Given the description of an element on the screen output the (x, y) to click on. 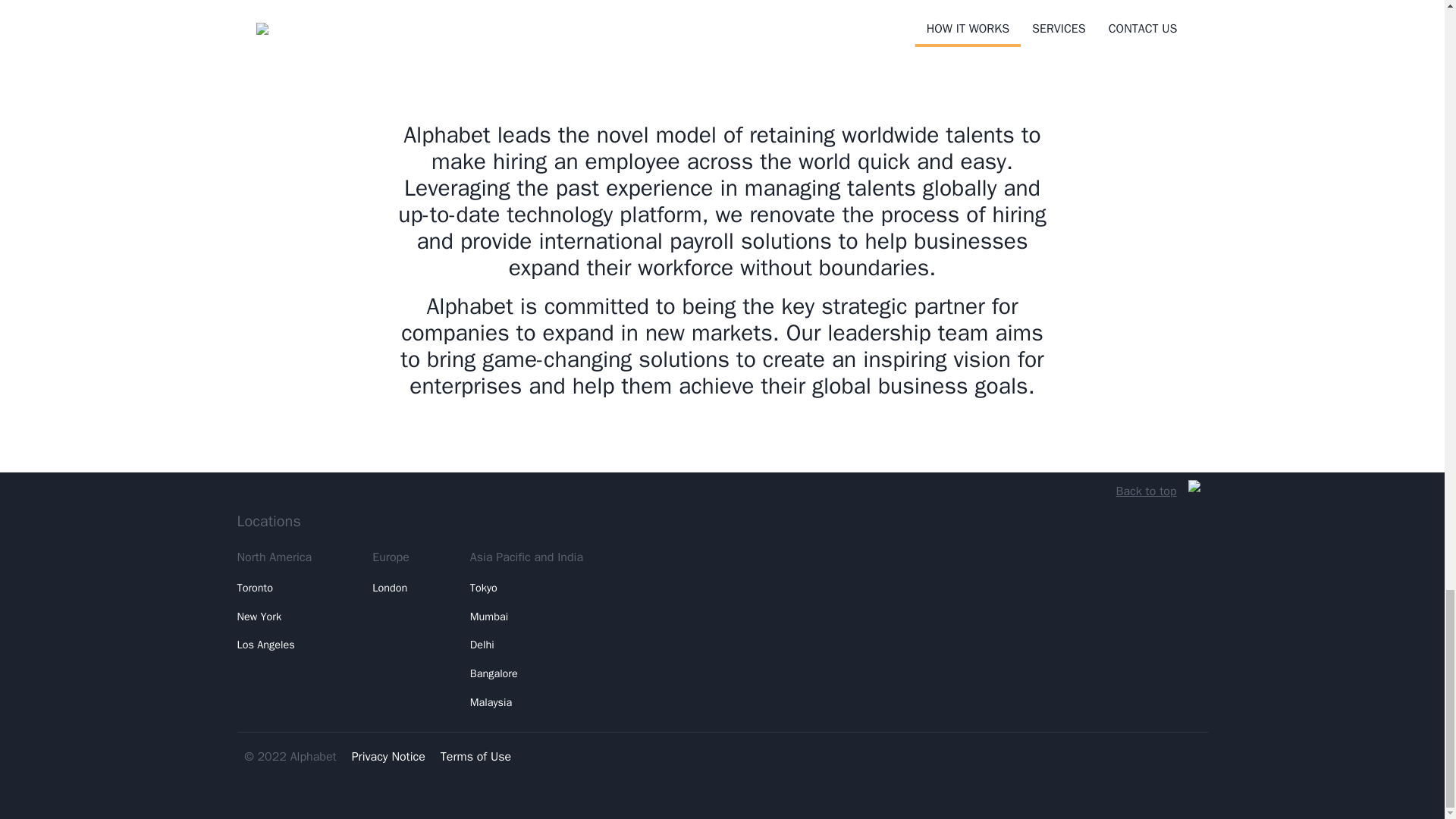
Back to top (1157, 490)
Tokyo (526, 588)
Toronto (273, 588)
London (390, 588)
Privacy Notice (388, 756)
New York (273, 616)
Mumbai (526, 616)
Malaysia (526, 702)
Delhi (526, 645)
Terms of Use (476, 756)
Bangalore (526, 674)
Los Angeles (273, 645)
